Given the description of an element on the screen output the (x, y) to click on. 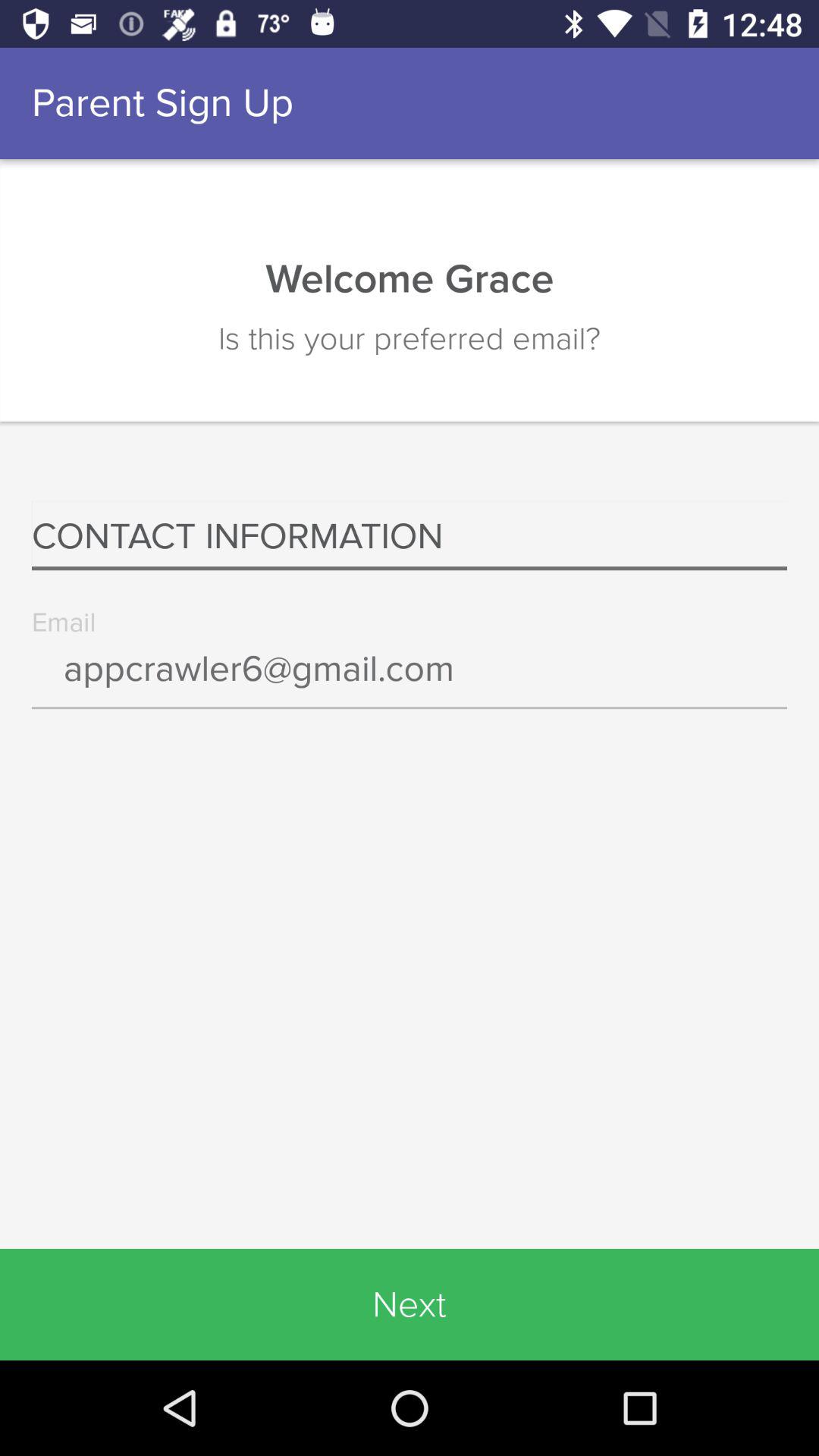
select the icon below the contact information (409, 679)
